Given the description of an element on the screen output the (x, y) to click on. 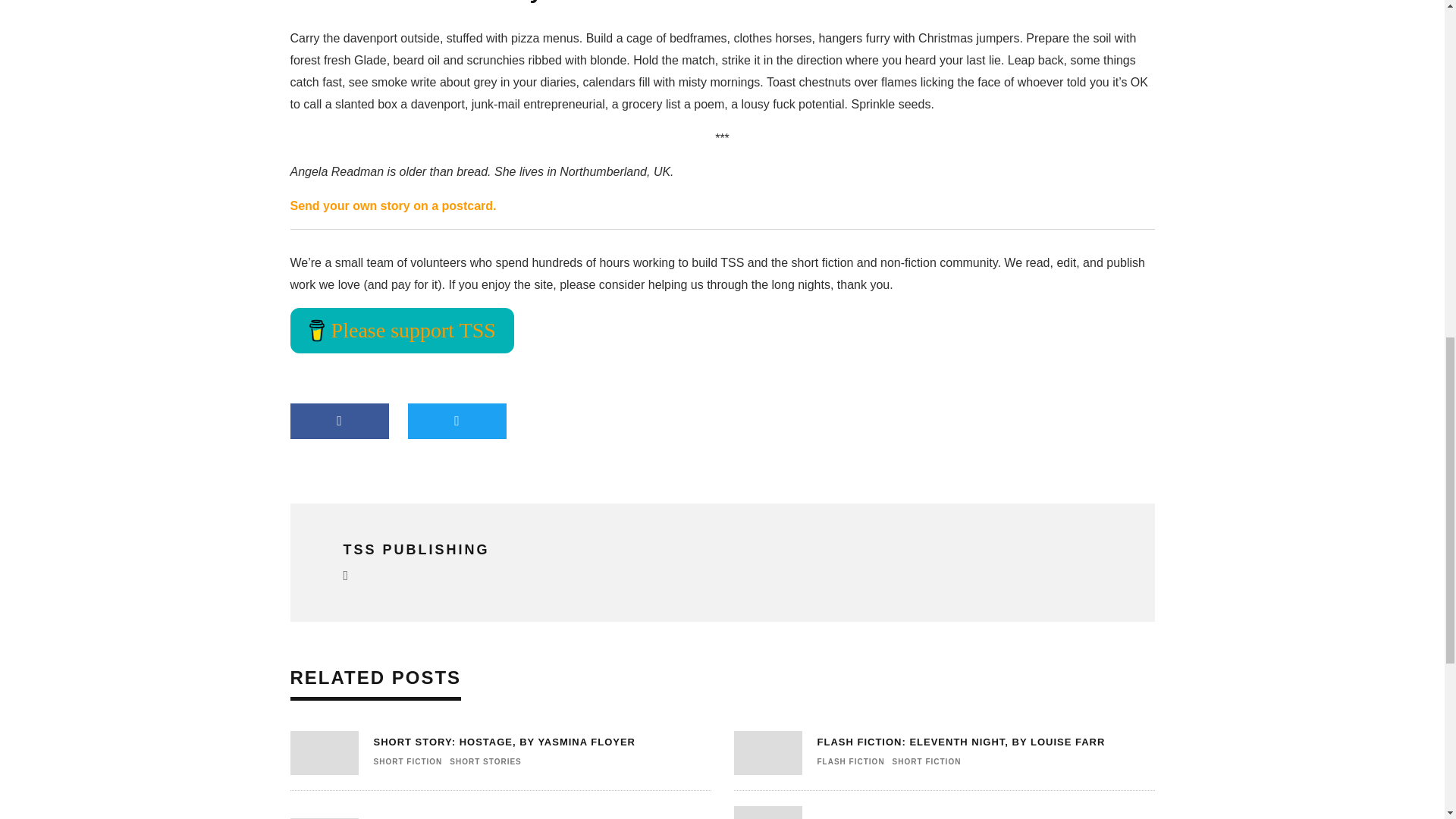
Send your own story on a postcard. (392, 205)
